Given the description of an element on the screen output the (x, y) to click on. 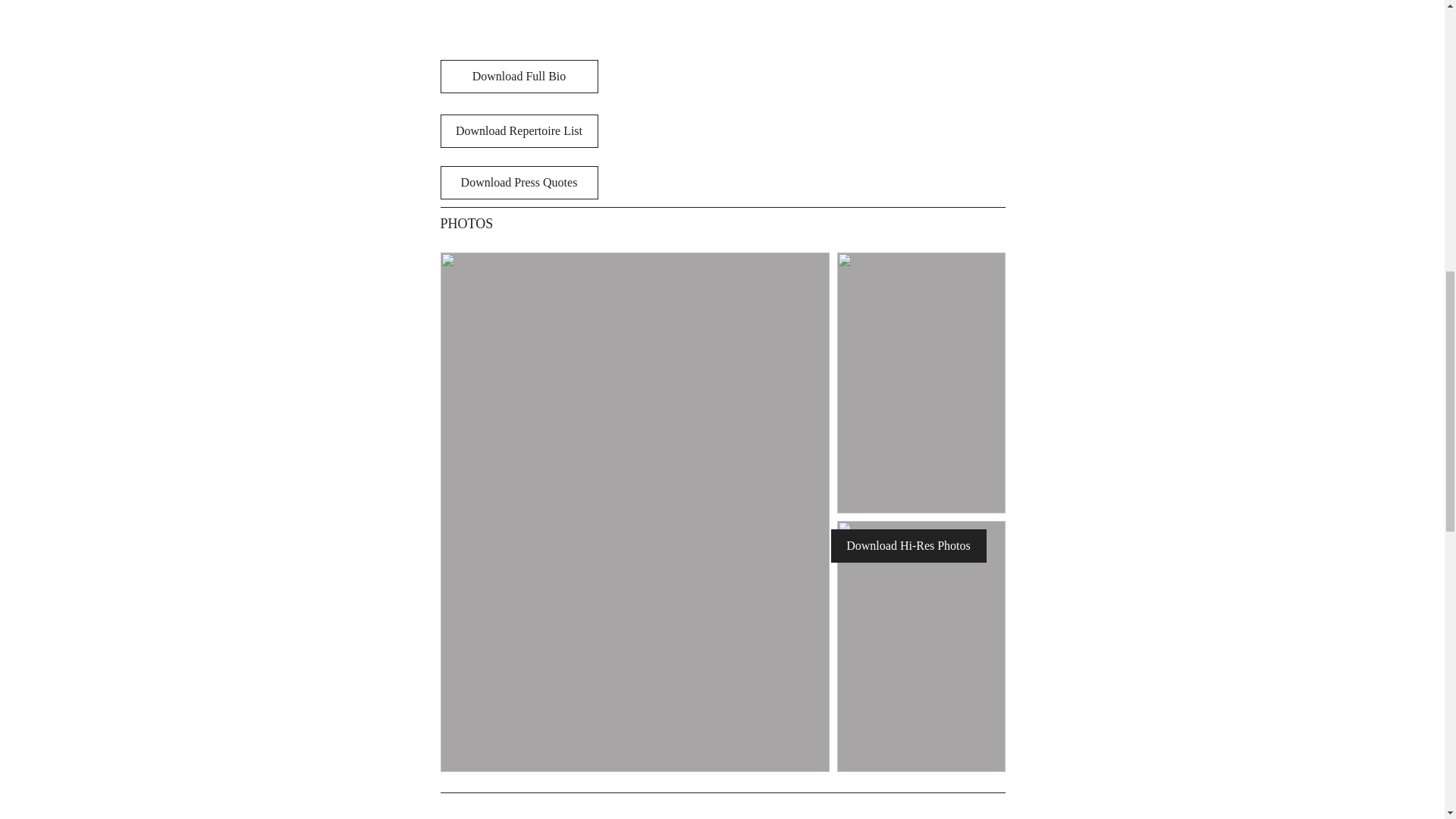
Download Full Bio (517, 76)
Download Hi-Res Photos (909, 545)
Download Repertoire List (517, 131)
Download Press Quotes (517, 182)
